Given the description of an element on the screen output the (x, y) to click on. 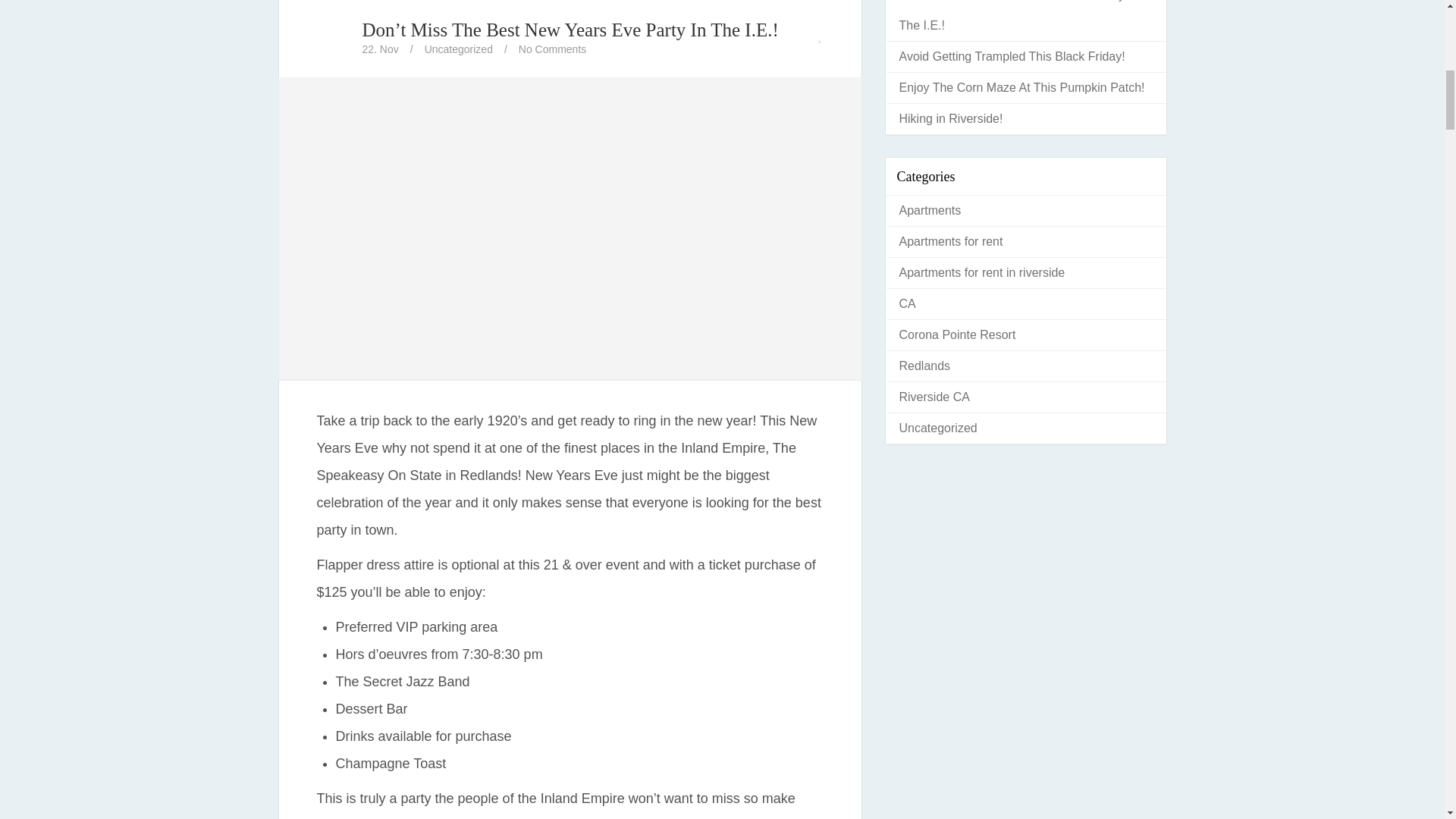
Uncategorized (459, 49)
No Comments (552, 49)
View all posts in Uncategorized (459, 49)
Author Name (331, 37)
